Given the description of an element on the screen output the (x, y) to click on. 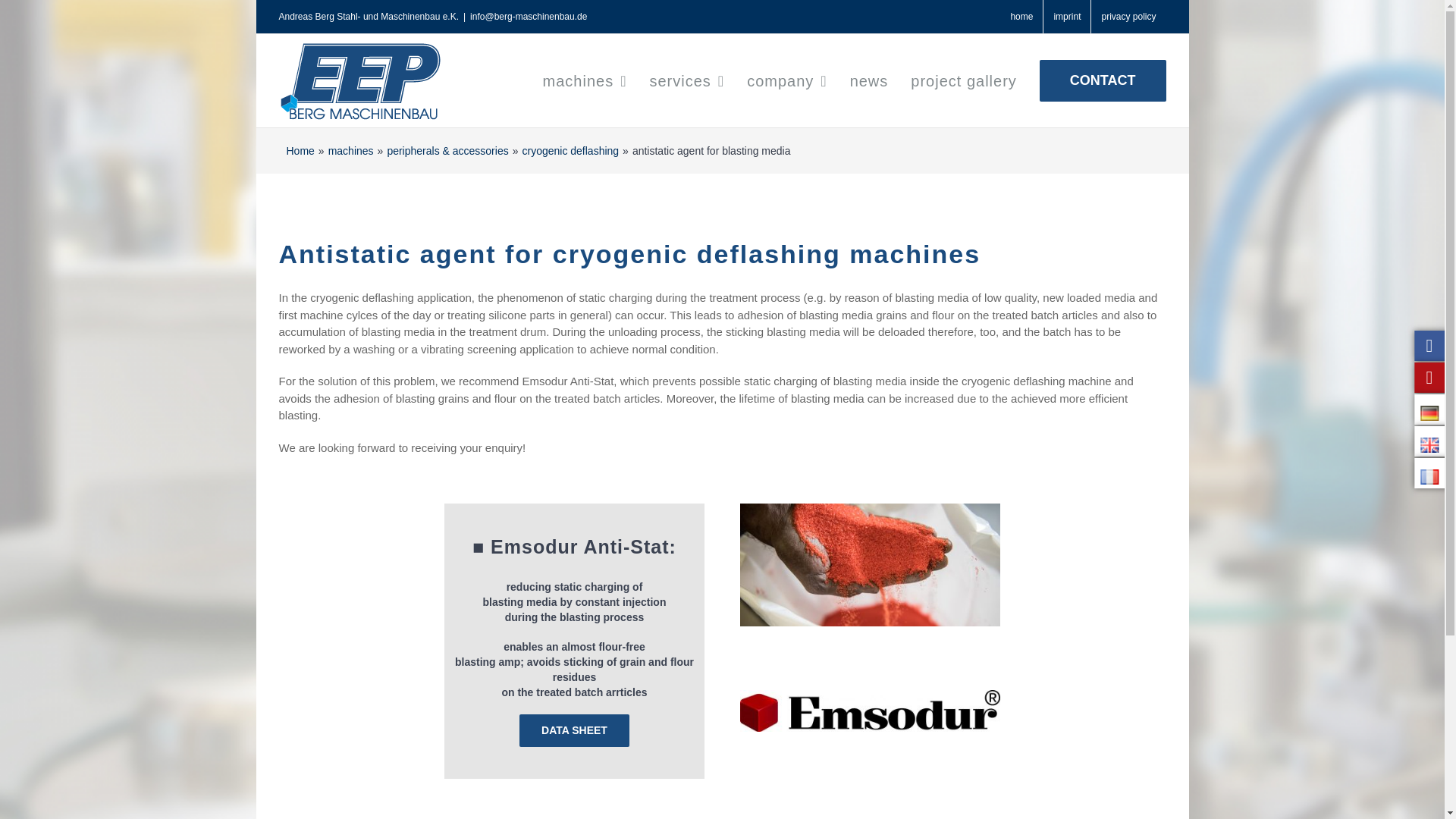
machines (585, 80)
privacy policy (1128, 16)
home (1021, 16)
imprint (1066, 16)
